Given the description of an element on the screen output the (x, y) to click on. 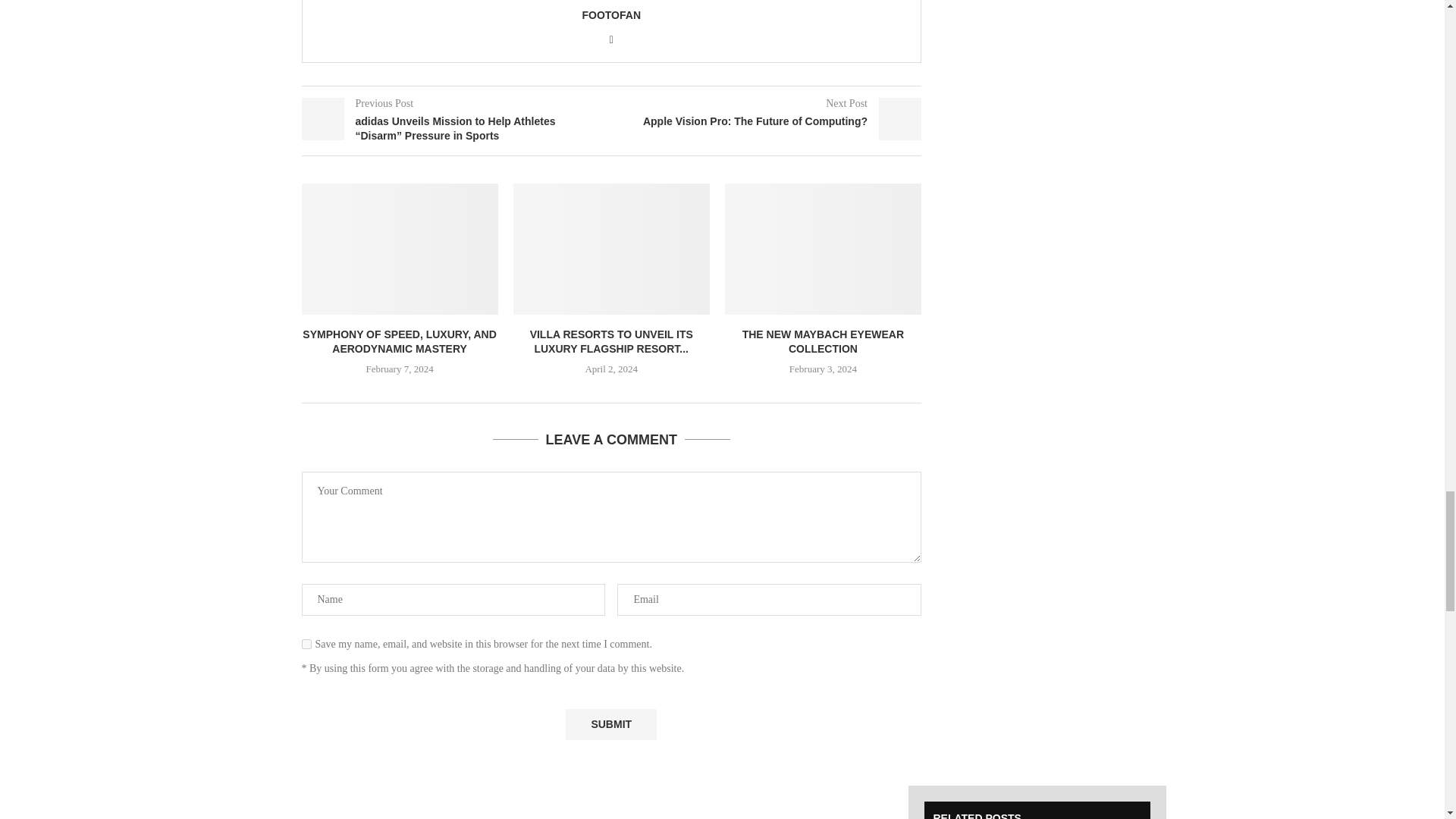
Submit (611, 724)
yes (306, 644)
